Given the description of an element on the screen output the (x, y) to click on. 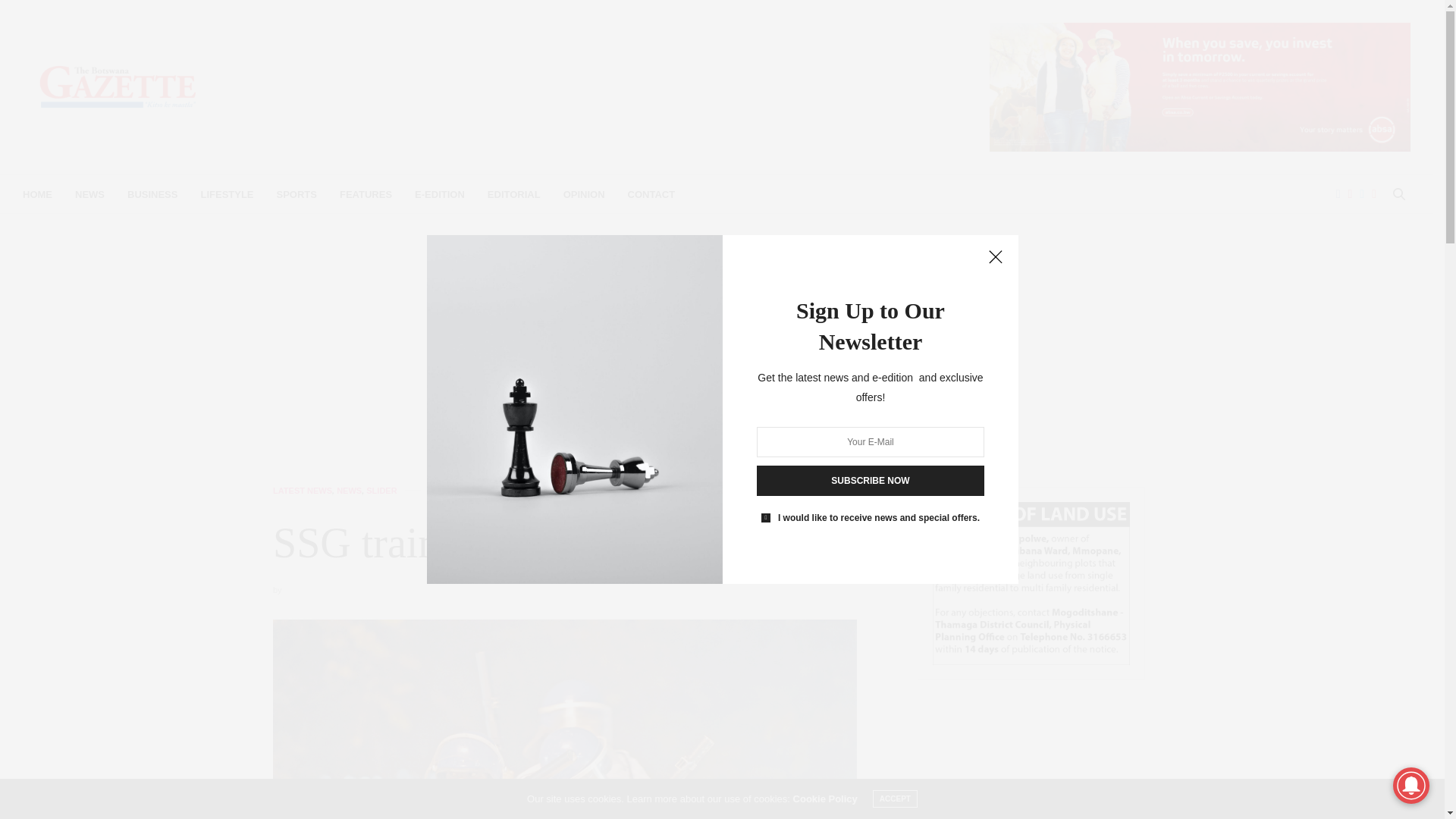
E-EDITION (439, 193)
SPORTS (296, 193)
NEWS (89, 193)
LIFESTYLE (226, 193)
OPINION (584, 193)
Scroll To Top (1408, 782)
HOME (37, 193)
Botswana Gazette (117, 86)
BUSINESS (152, 193)
SUBSCRIBE NOW (870, 481)
EDITORIAL (513, 193)
NEWS (348, 490)
SLIDER (381, 490)
FEATURES (365, 193)
